Given the description of an element on the screen output the (x, y) to click on. 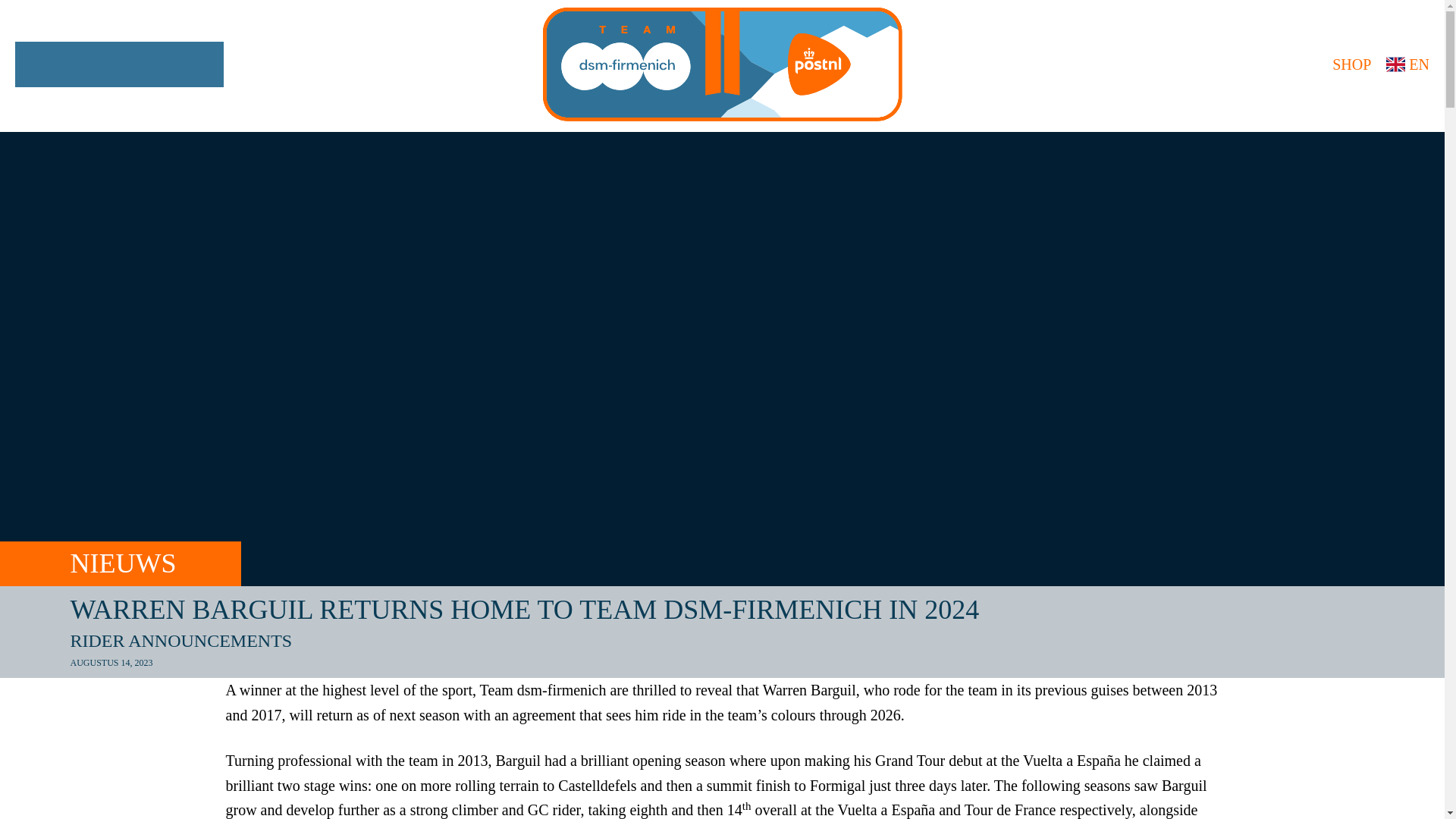
YOUTUBE (203, 63)
TWITTER (119, 63)
TOP MENU (35, 63)
SHOP (1346, 64)
NIEUWS (155, 563)
English site (1407, 64)
EN (1407, 64)
Nieuws (155, 563)
FACEBOOK (77, 63)
